Given the description of an element on the screen output the (x, y) to click on. 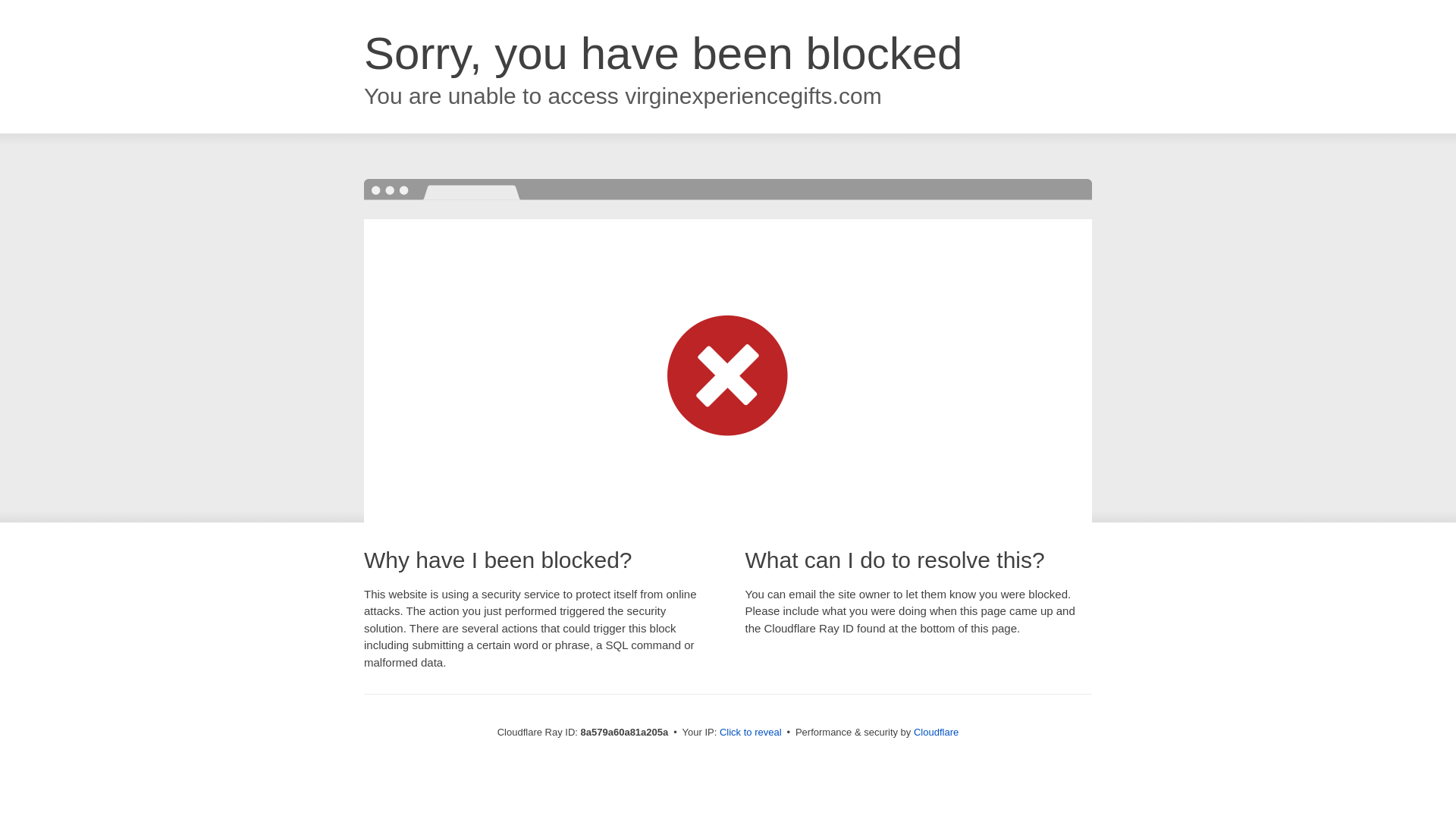
Click to reveal (750, 732)
Cloudflare (936, 731)
